Given the description of an element on the screen output the (x, y) to click on. 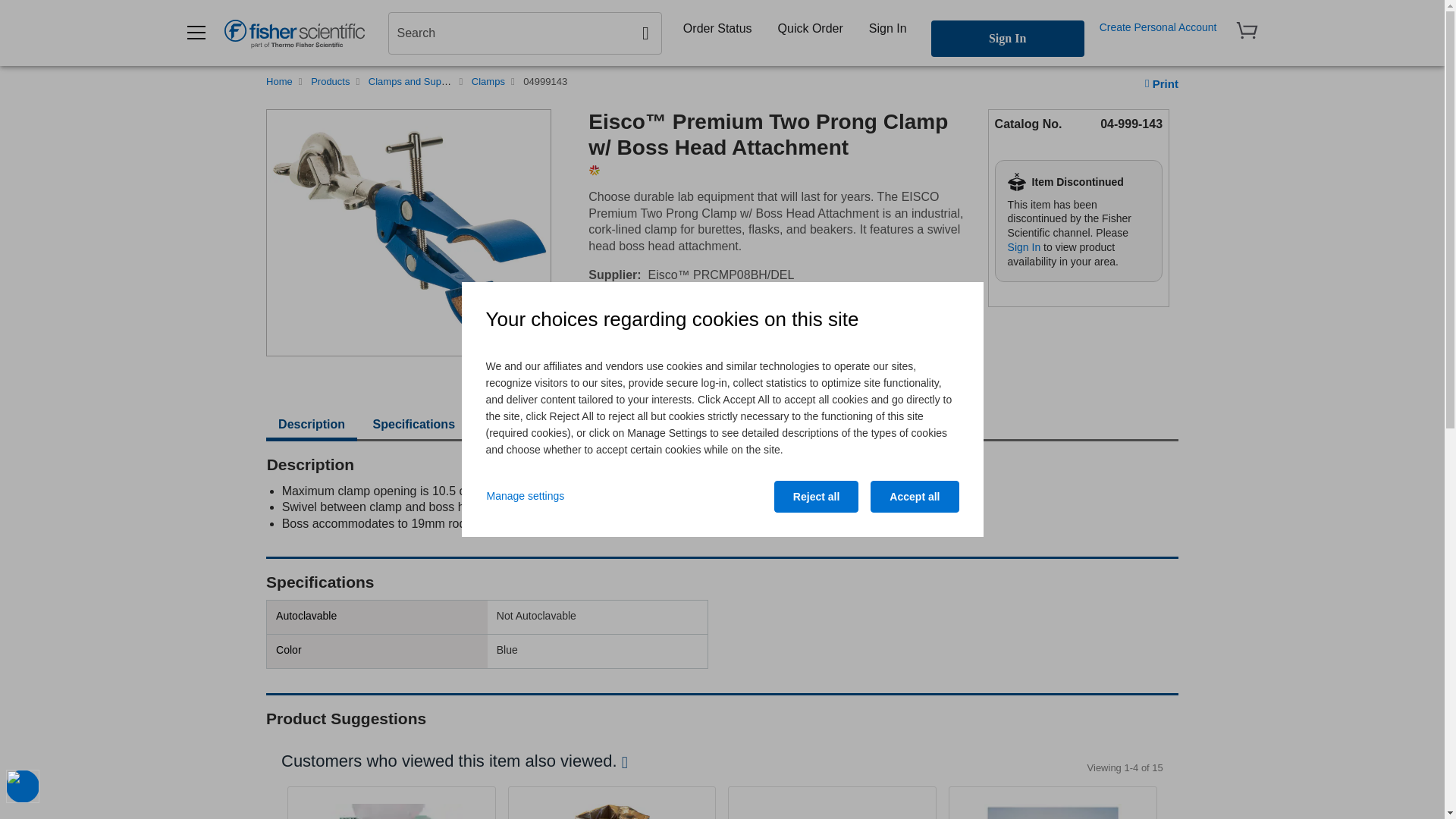
Clamps and Supports (415, 81)
Products (330, 81)
Sign In (1007, 38)
Home (279, 81)
Clamps (488, 81)
Print (1160, 83)
Quick Order (809, 28)
04999143 (544, 81)
Accessibility Menu (22, 786)
Create Personal Account (1158, 27)
Order Status (717, 28)
Sign In (887, 28)
